Given the description of an element on the screen output the (x, y) to click on. 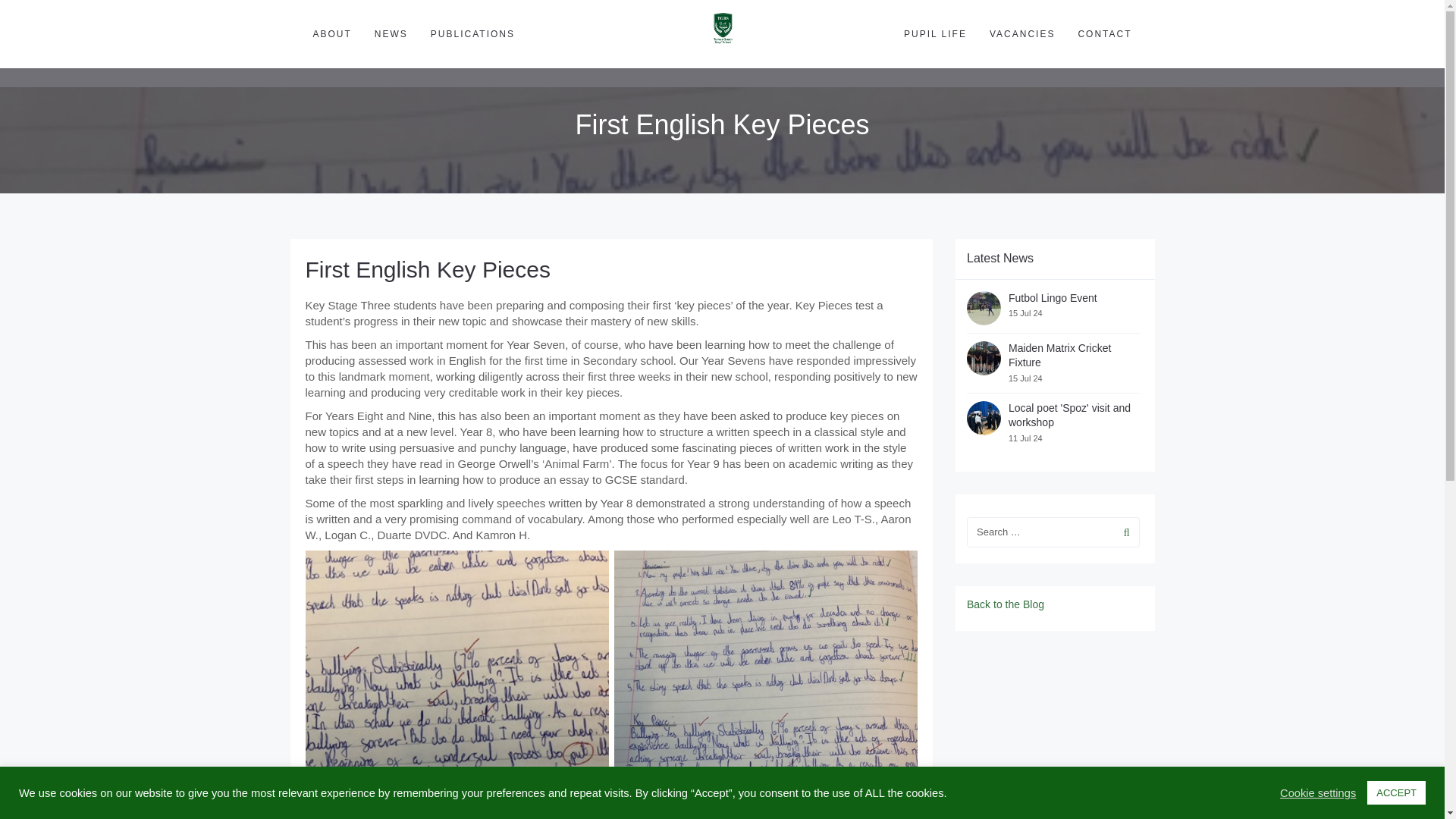
PUPIL LIFE (935, 33)
ABOUT (331, 33)
PUBLICATIONS (472, 33)
